Given the description of an element on the screen output the (x, y) to click on. 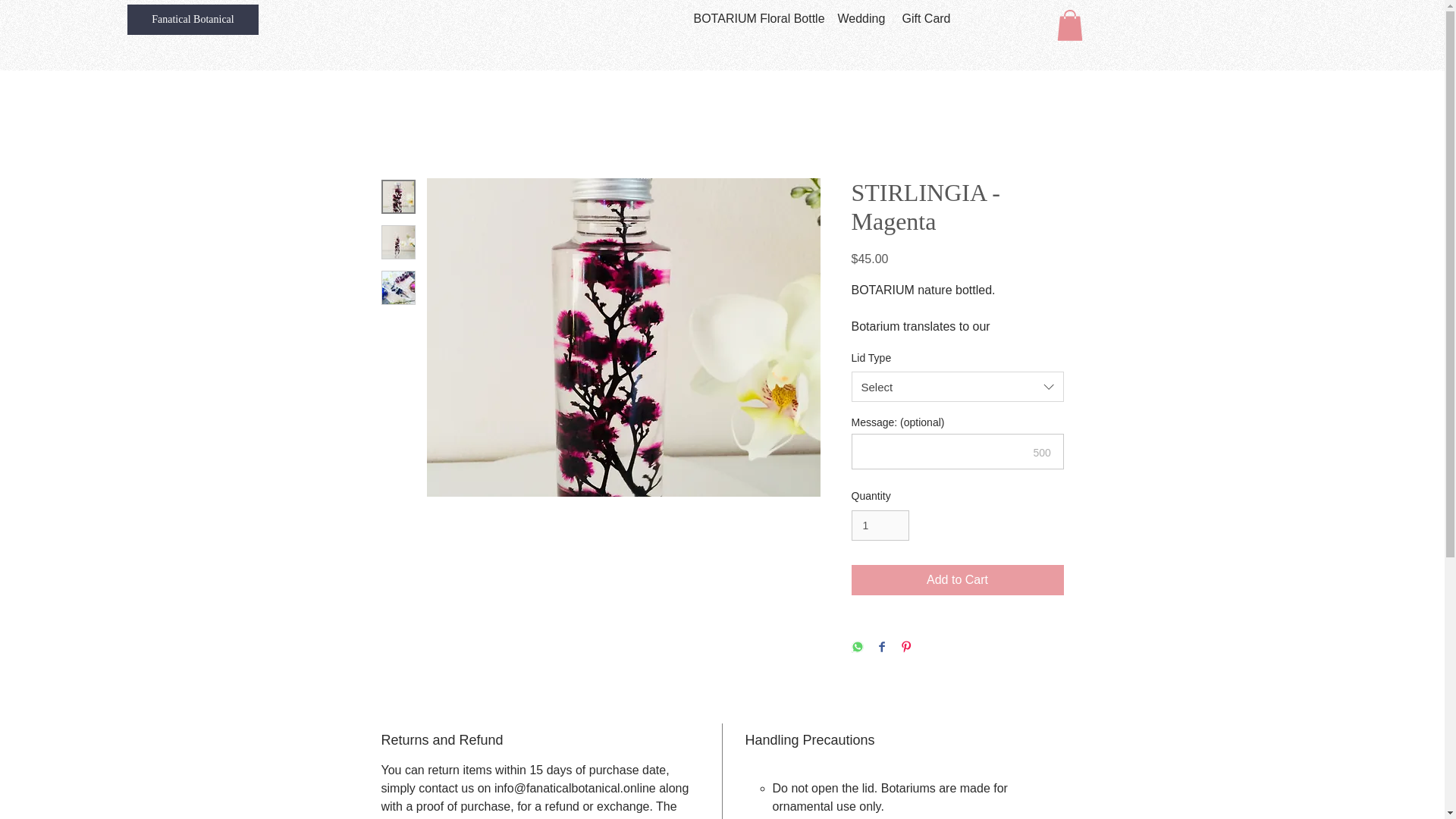
BOTARIUM Floral Bottle (754, 18)
Select (956, 386)
Fanatical Botanical (193, 19)
1 (879, 525)
Gift Card (923, 18)
Wedding (859, 18)
Add to Cart (956, 580)
